Given the description of an element on the screen output the (x, y) to click on. 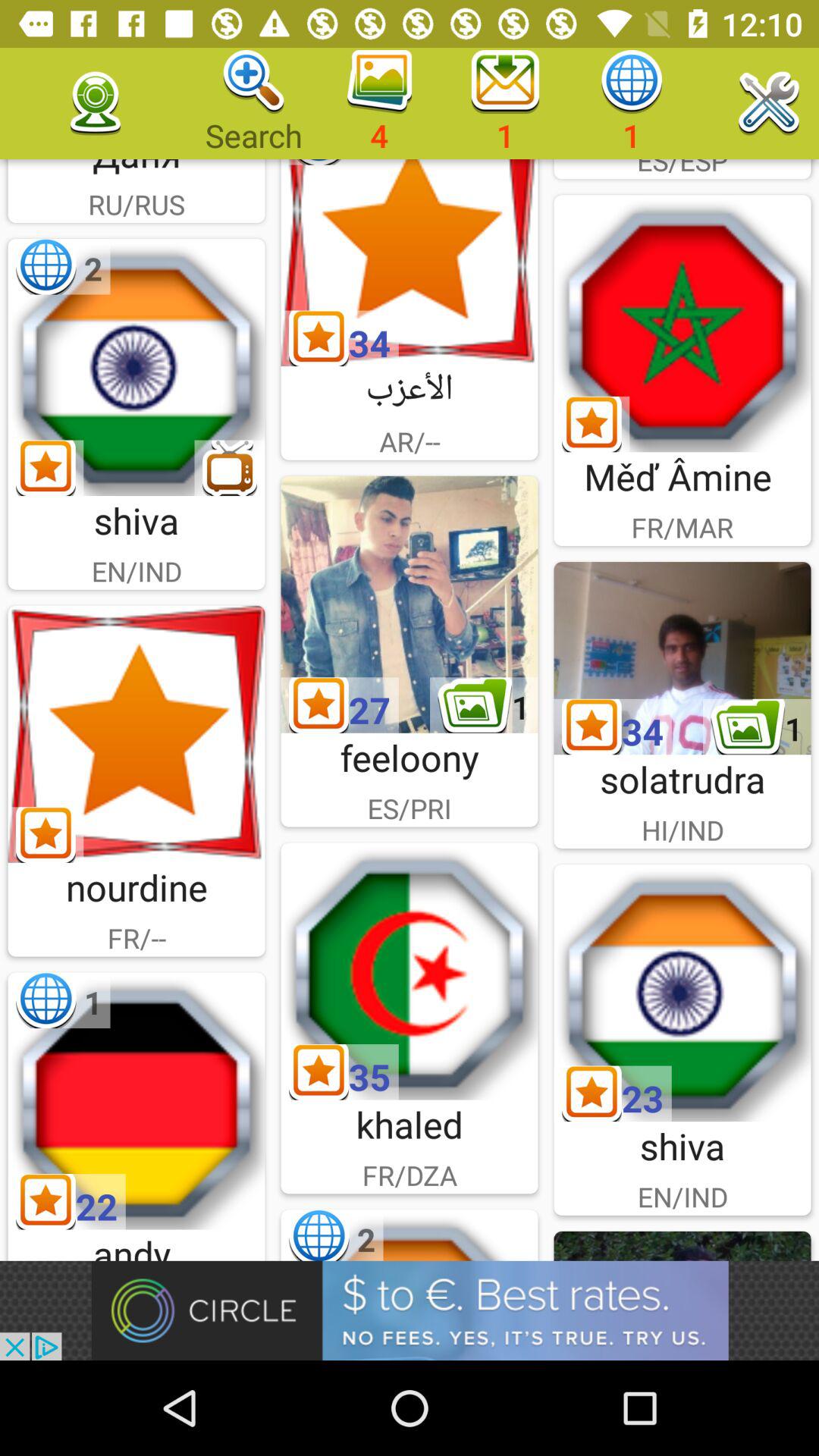
solatrudra (682, 657)
